Given the description of an element on the screen output the (x, y) to click on. 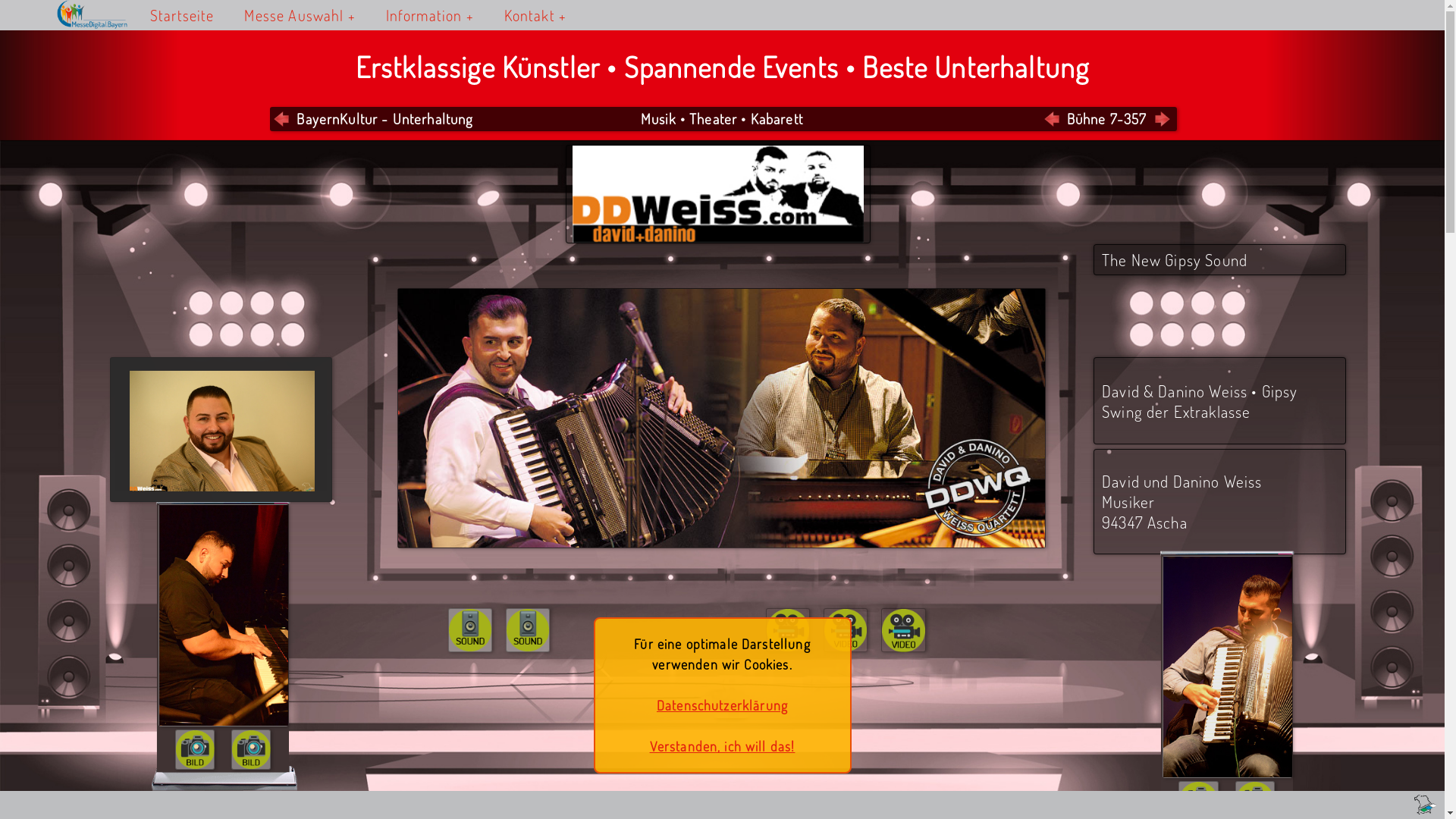
Messe Auswahl Element type: text (299, 15)
Das Logo von MesseDigital.Bayern Element type: hover (103, 14)
Information Element type: text (429, 15)
Verstanden, ich will das! Element type: text (722, 745)
Kontakt Element type: text (535, 15)
Startseite Element type: text (135, 15)
